Given the description of an element on the screen output the (x, y) to click on. 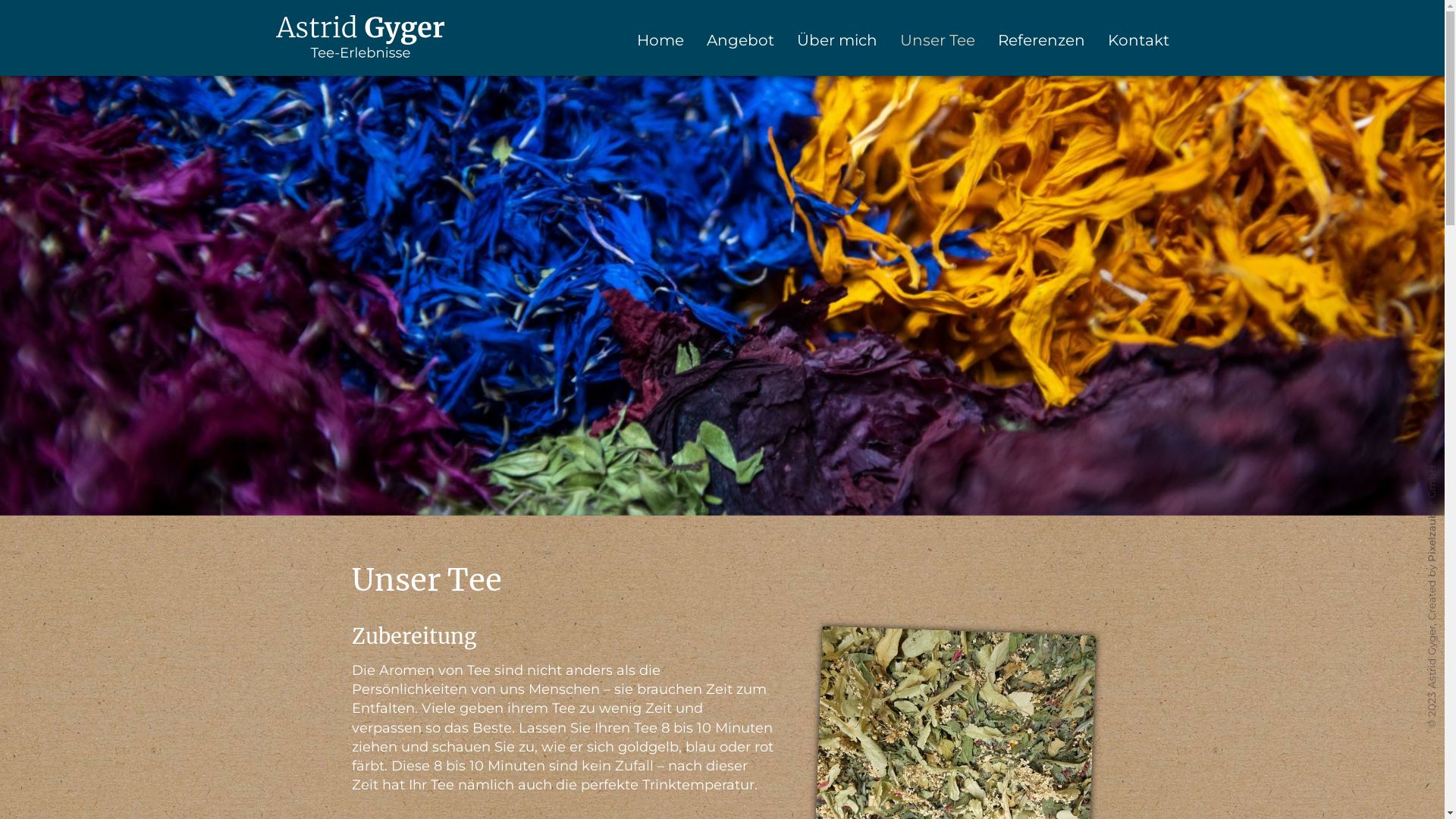
Unser Tee Element type: text (936, 38)
Home Element type: text (660, 38)
Referenzen Element type: text (1041, 38)
Kontakt Element type: text (1137, 38)
Angebot Element type: text (740, 38)
